Given the description of an element on the screen output the (x, y) to click on. 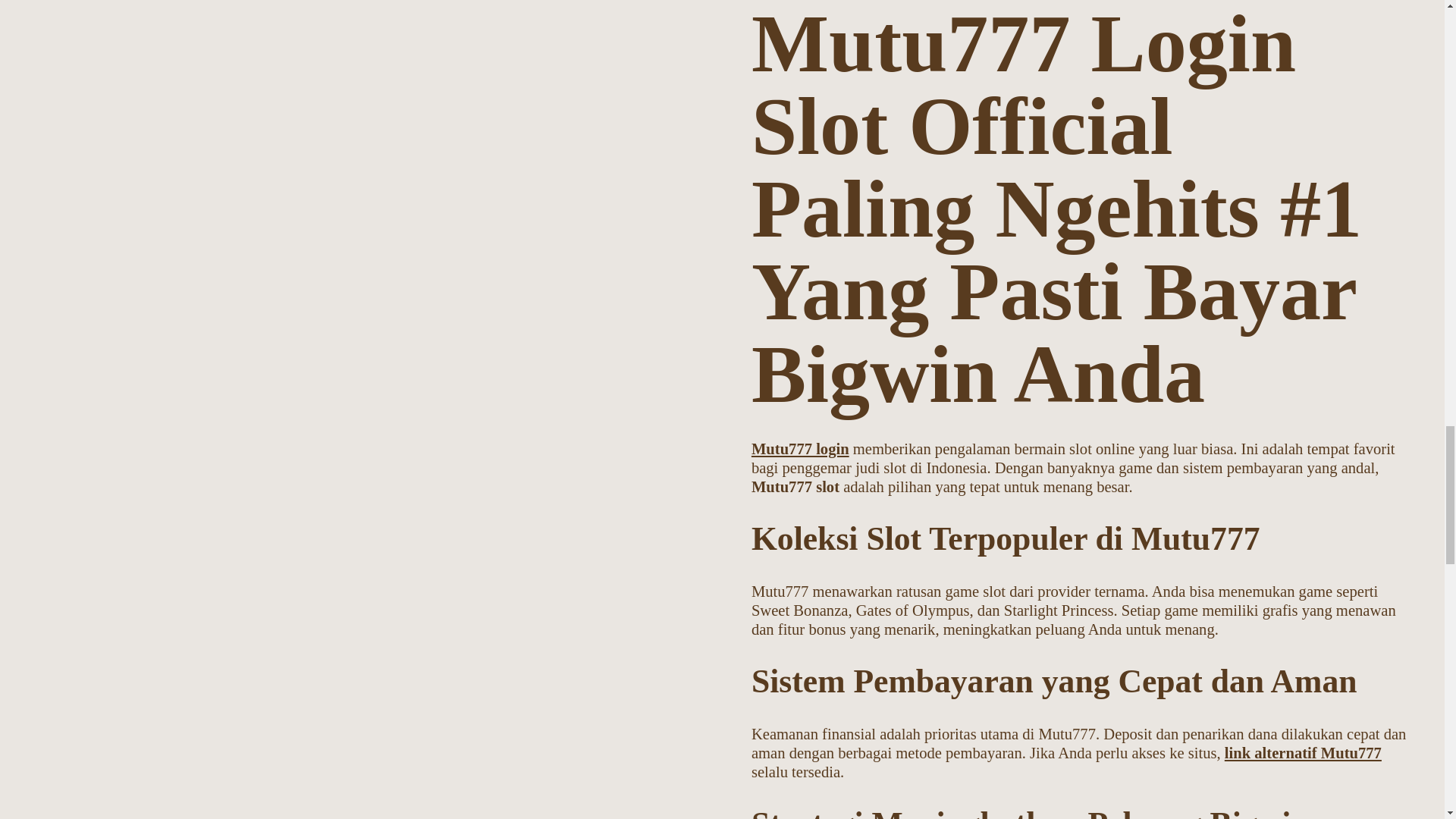
Mutu777 login (799, 448)
link alternatif Mutu777 (1302, 752)
